Given the description of an element on the screen output the (x, y) to click on. 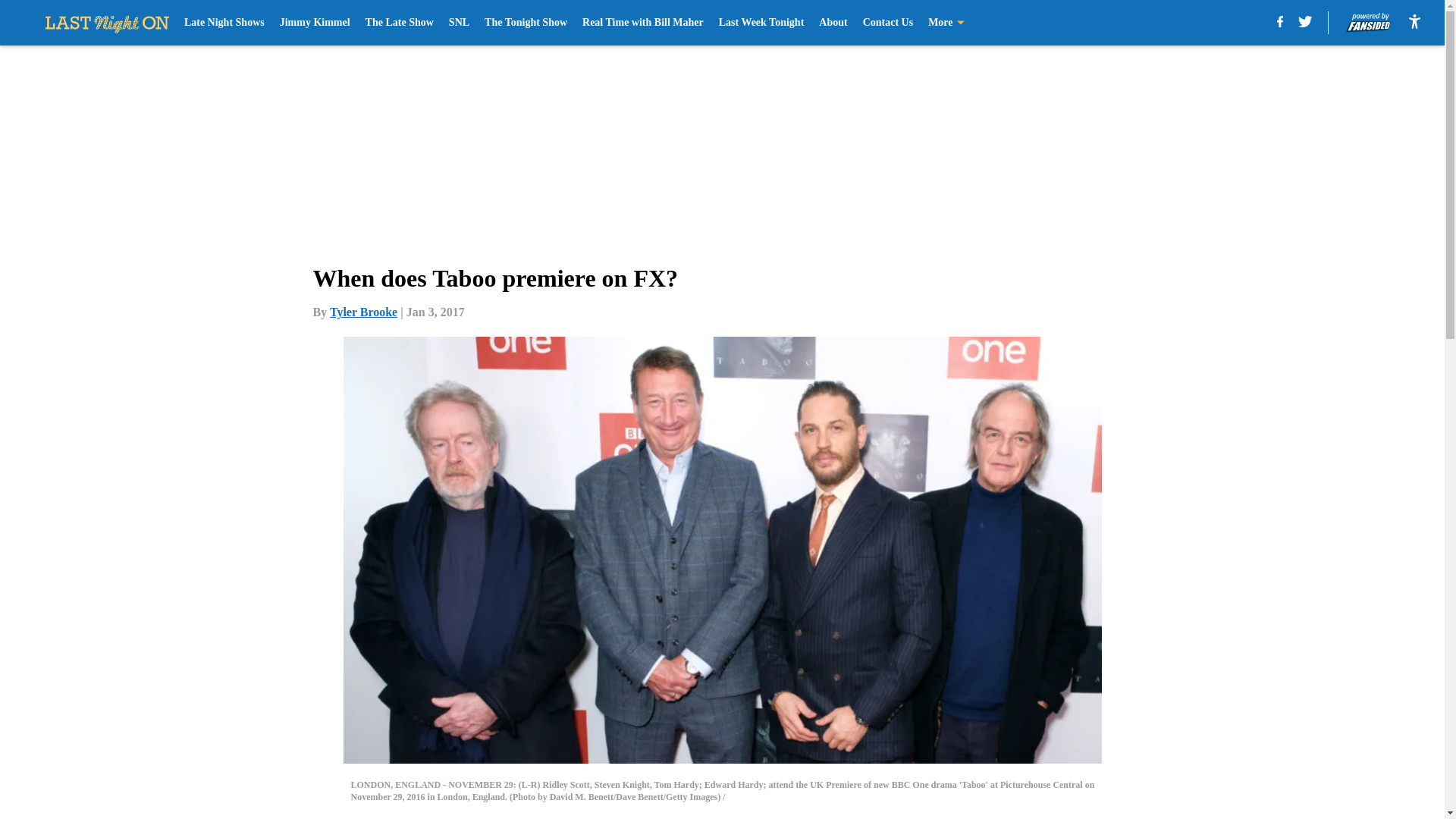
Jimmy Kimmel (314, 22)
The Late Show (399, 22)
Contact Us (888, 22)
Tyler Brooke (363, 311)
Last Week Tonight (762, 22)
About (832, 22)
More (945, 22)
SNL (458, 22)
Late Night Shows (224, 22)
Real Time with Bill Maher (642, 22)
